Given the description of an element on the screen output the (x, y) to click on. 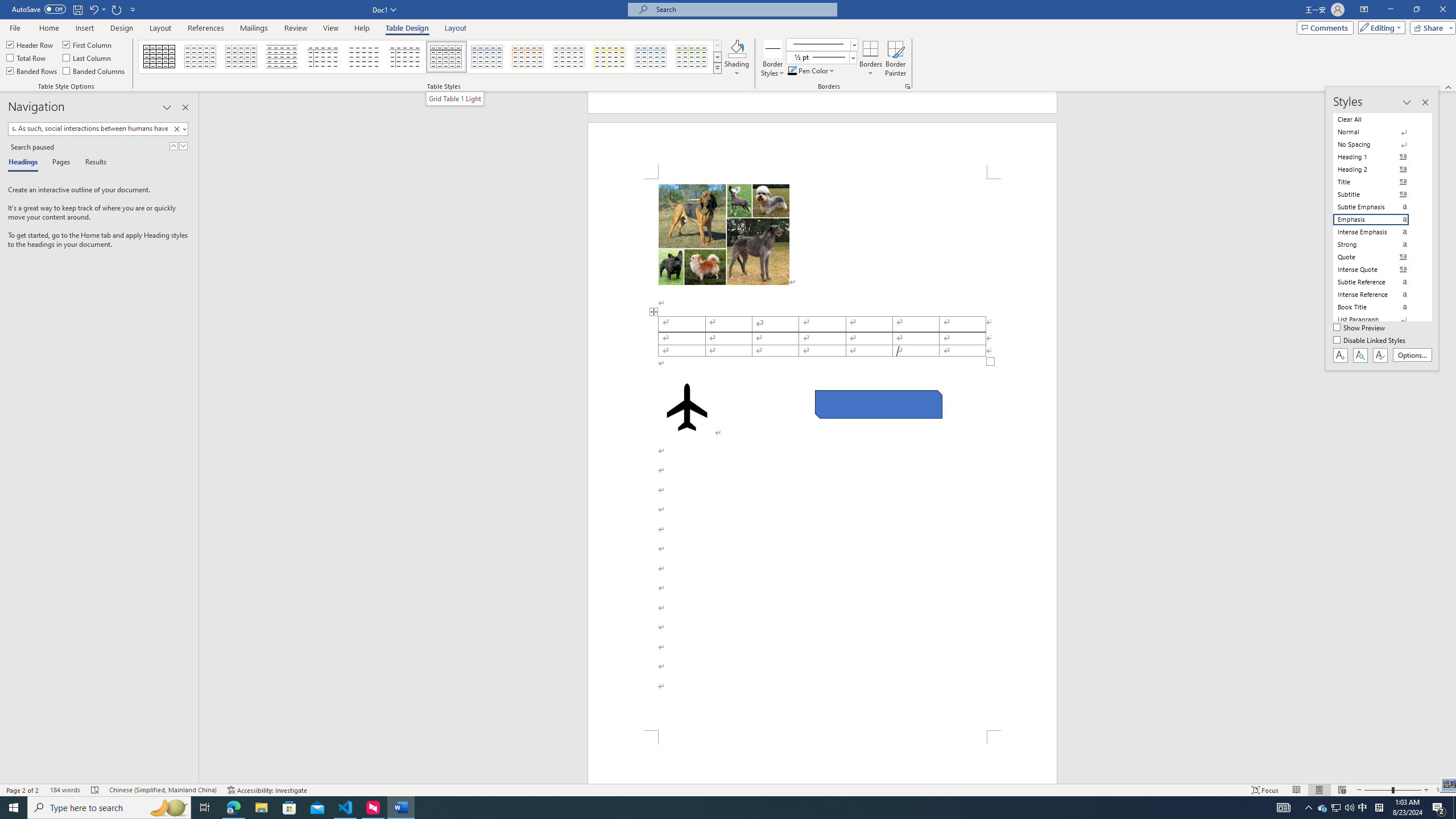
Microsoft search (742, 9)
Rectangle: Diagonal Corners Snipped 2 (878, 403)
Plain Table 1 (241, 56)
Language Chinese (Simplified, Mainland China) (162, 790)
Heading 2 (1377, 169)
Zoom 104% (1443, 790)
Last Column (88, 56)
Spelling and Grammar Check Errors (94, 790)
